Given the description of an element on the screen output the (x, y) to click on. 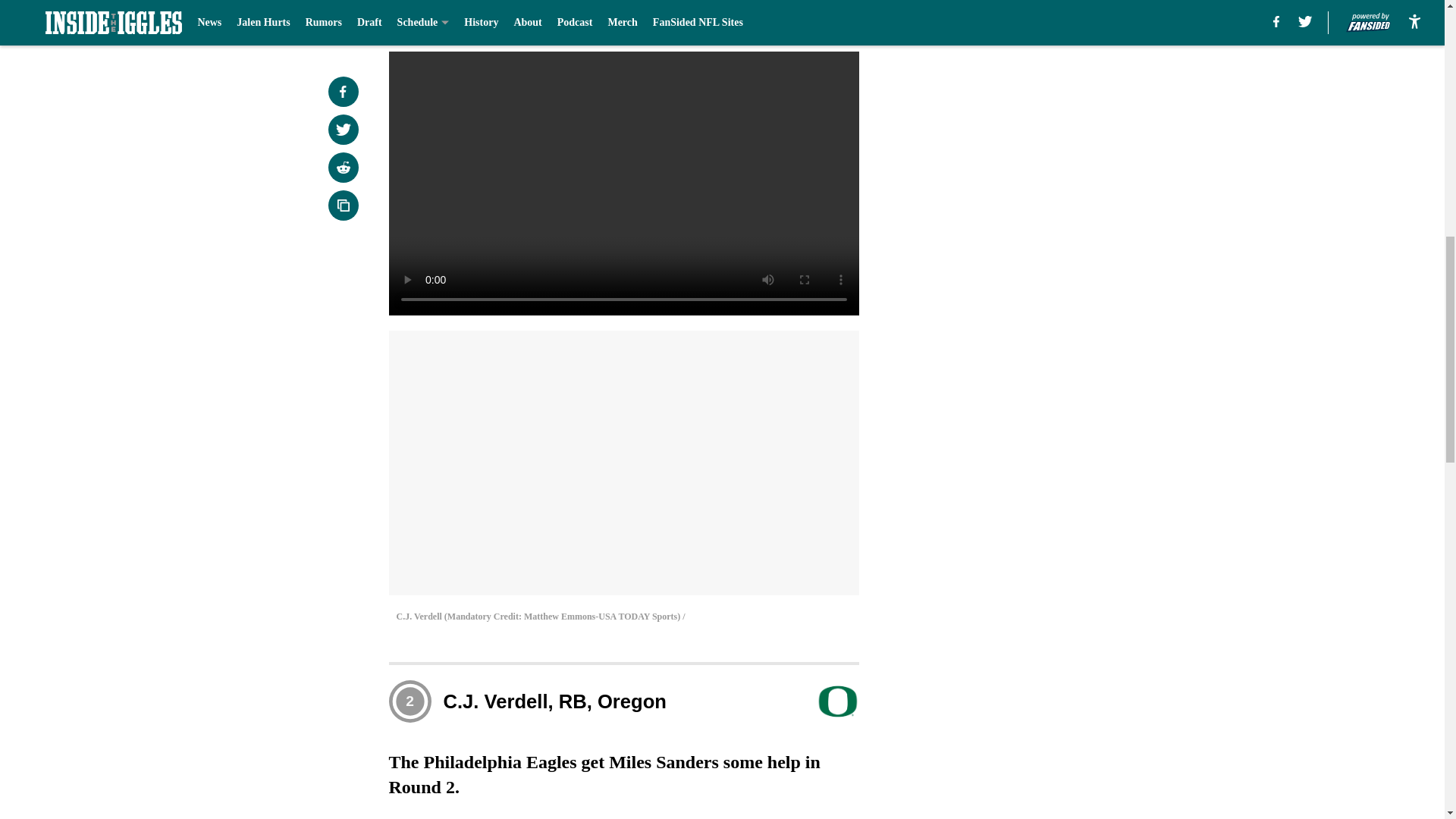
3rd party ad content (1047, 320)
Next (813, 20)
Prev (433, 20)
3rd party ad content (1047, 100)
